Given the description of an element on the screen output the (x, y) to click on. 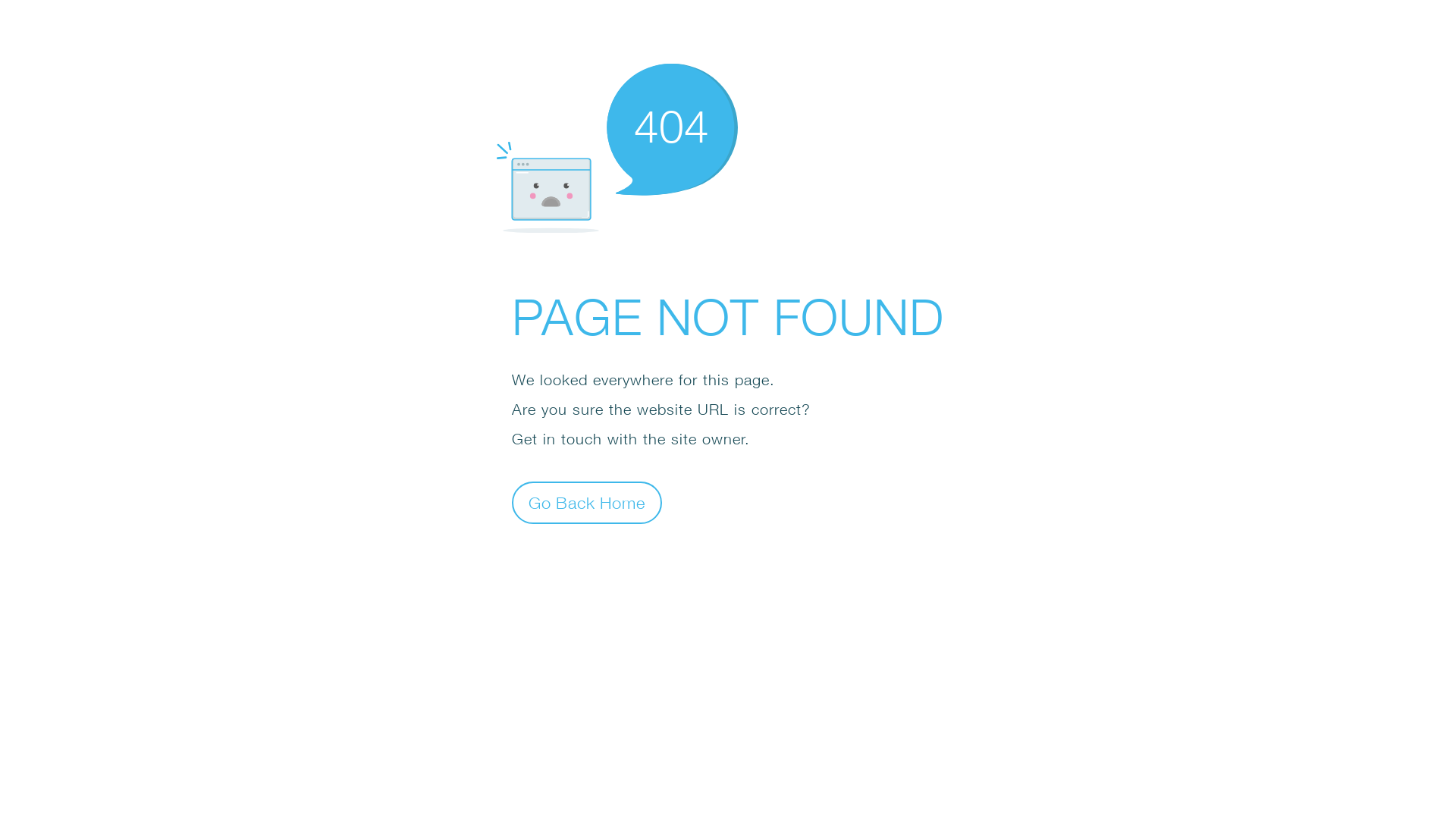
Go Back Home Element type: text (586, 502)
